Given the description of an element on the screen output the (x, y) to click on. 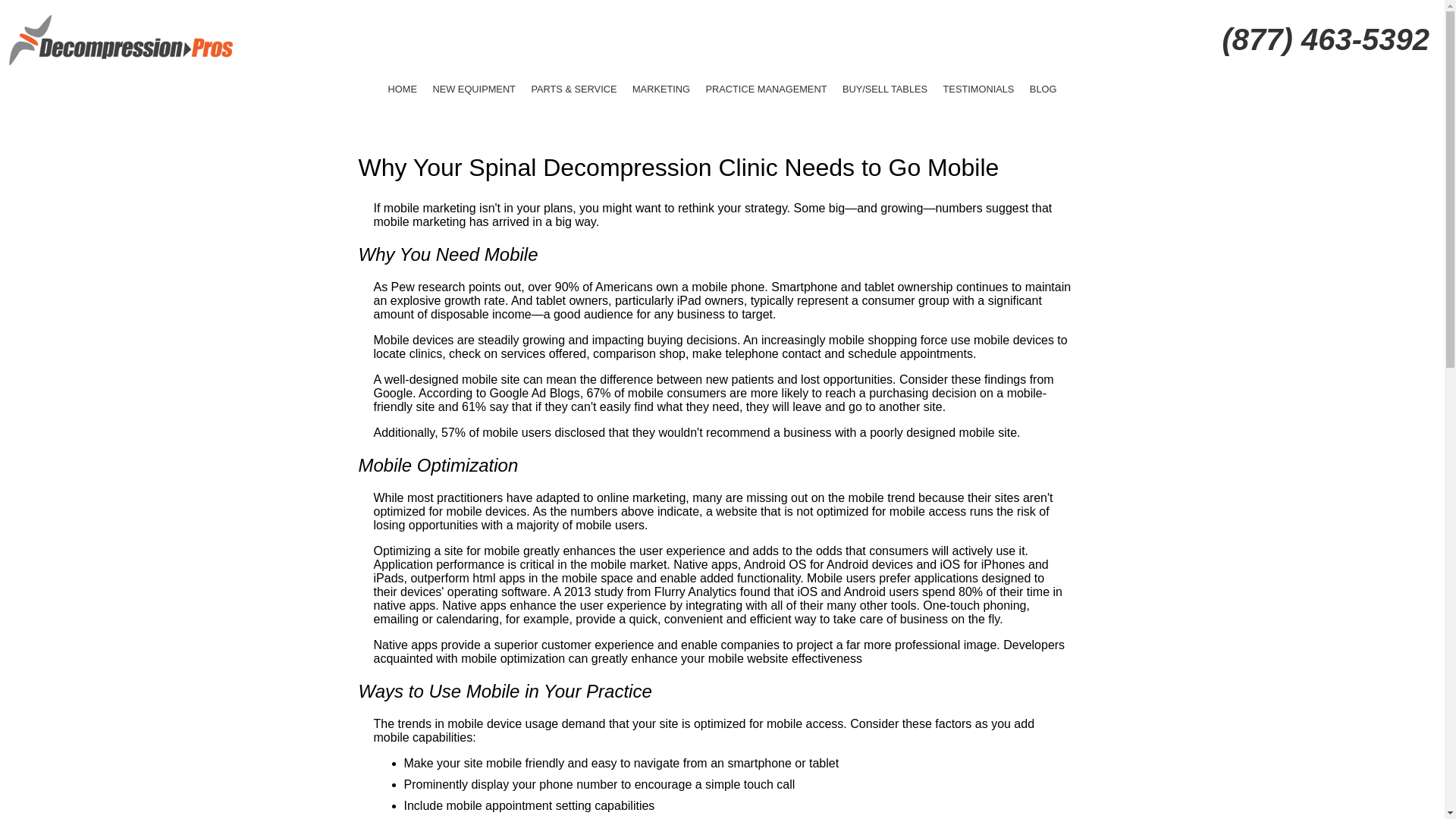
MARKETING (660, 91)
NEW EQUIPMENT (473, 91)
PRACTICE MANAGEMENT (765, 91)
HOME (402, 91)
TESTIMONIALS (978, 91)
BLOG (1042, 91)
